Given the description of an element on the screen output the (x, y) to click on. 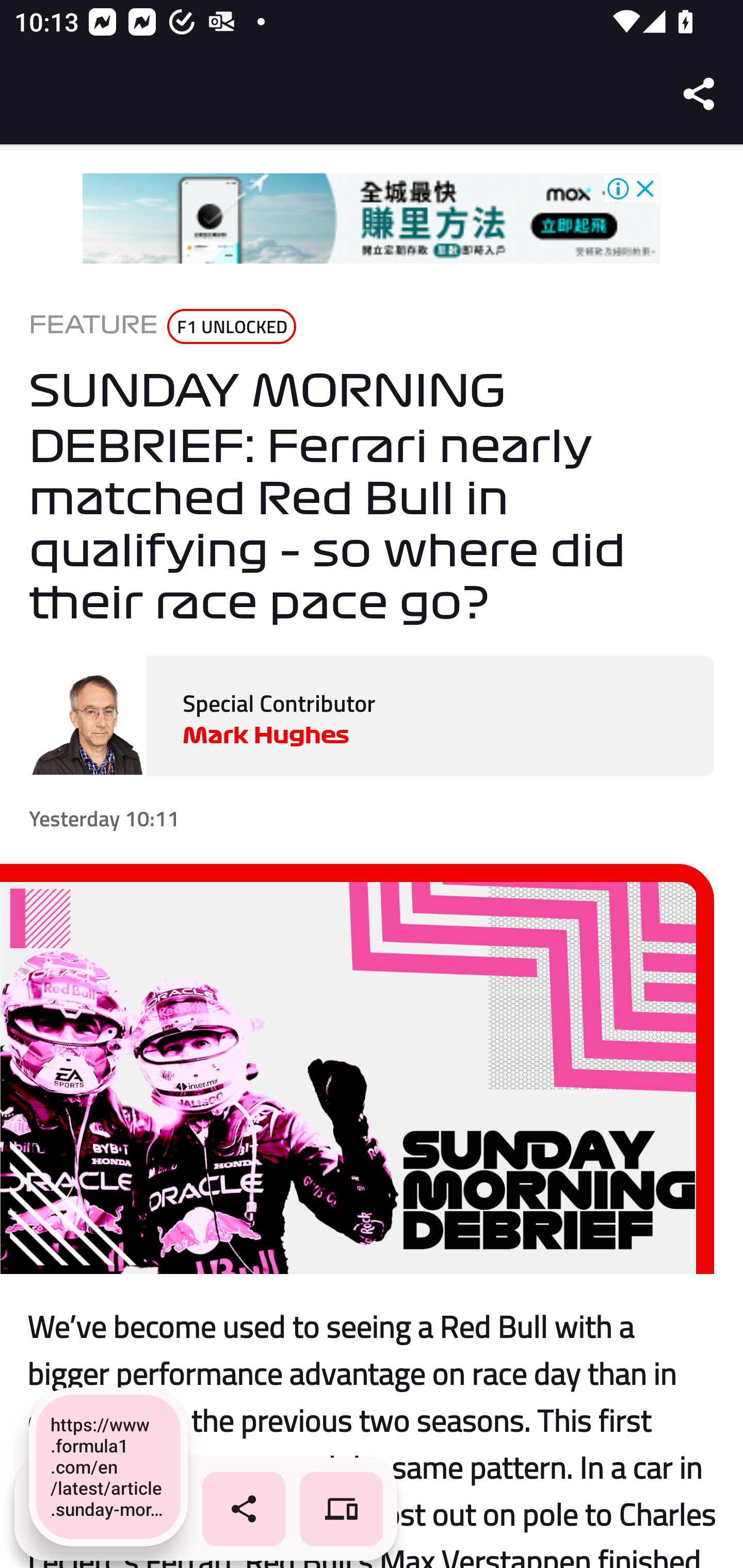
Share (699, 93)
Advertisement (371, 218)
